Given the description of an element on the screen output the (x, y) to click on. 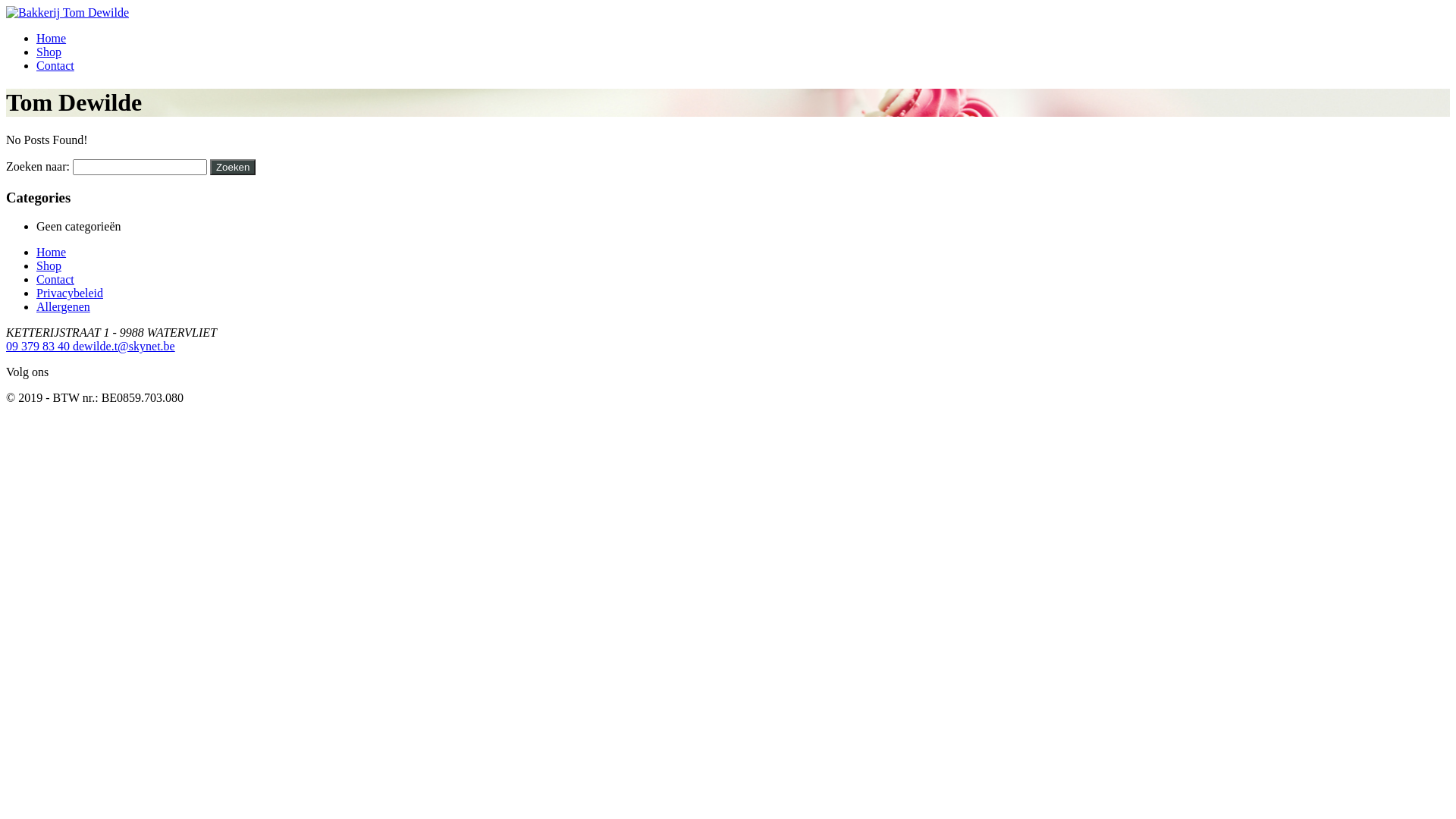
Home Element type: text (50, 37)
Allergenen Element type: text (63, 306)
Zoeken Element type: text (232, 167)
Contact Element type: text (55, 279)
Shop Element type: text (48, 265)
Privacybeleid Element type: text (69, 292)
dewilde.t@skynet.be Element type: text (123, 345)
Shop Element type: text (48, 51)
Contact Element type: text (55, 65)
Home Element type: text (50, 251)
09 379 83 40 Element type: text (39, 345)
